Given the description of an element on the screen output the (x, y) to click on. 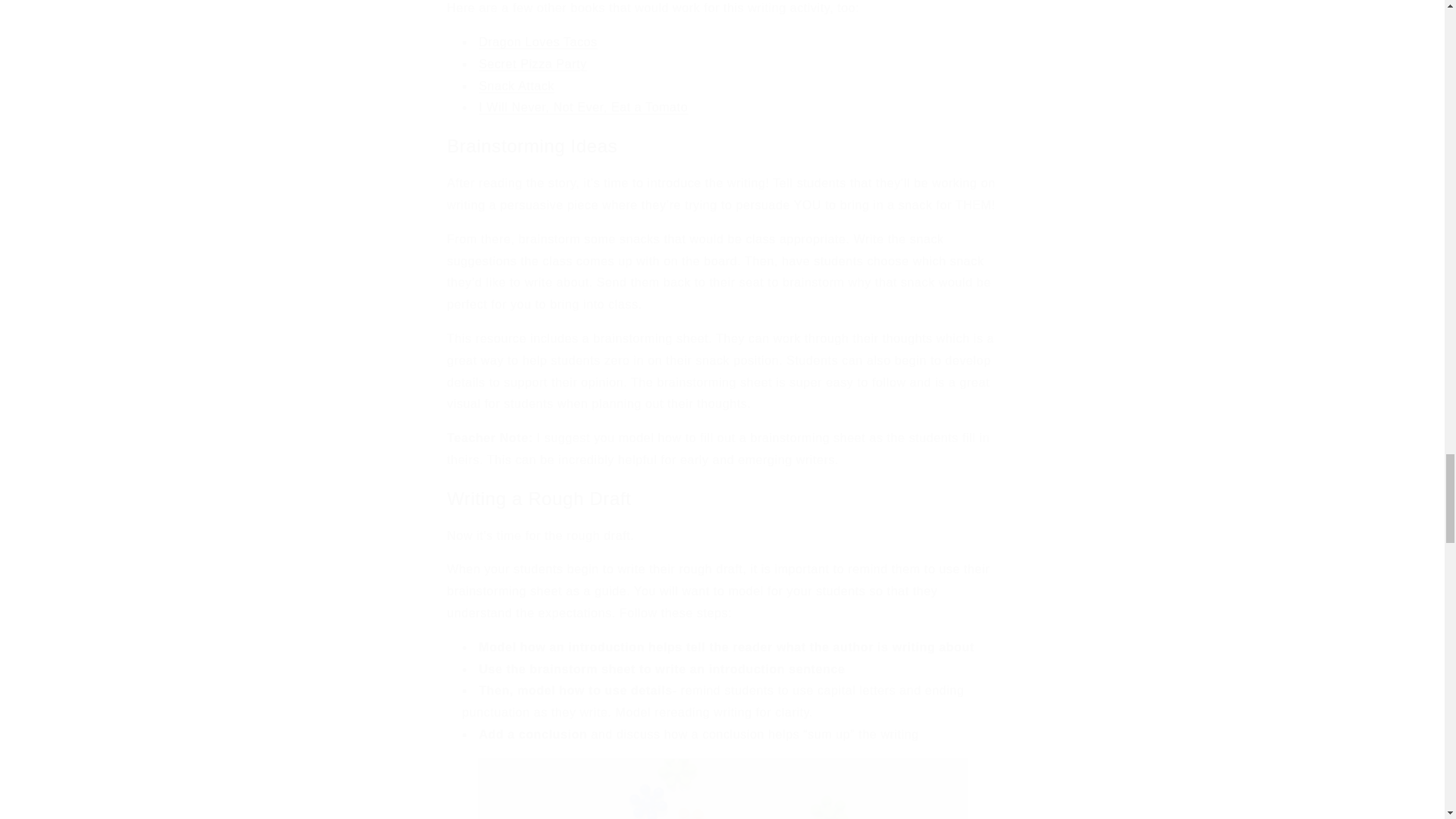
I Will Never, Not Ever, Eat a Tomato (583, 106)
Snack Attack (516, 85)
Dragon Loves Tacos (537, 42)
Secret Pizza Party (532, 63)
